Given the description of an element on the screen output the (x, y) to click on. 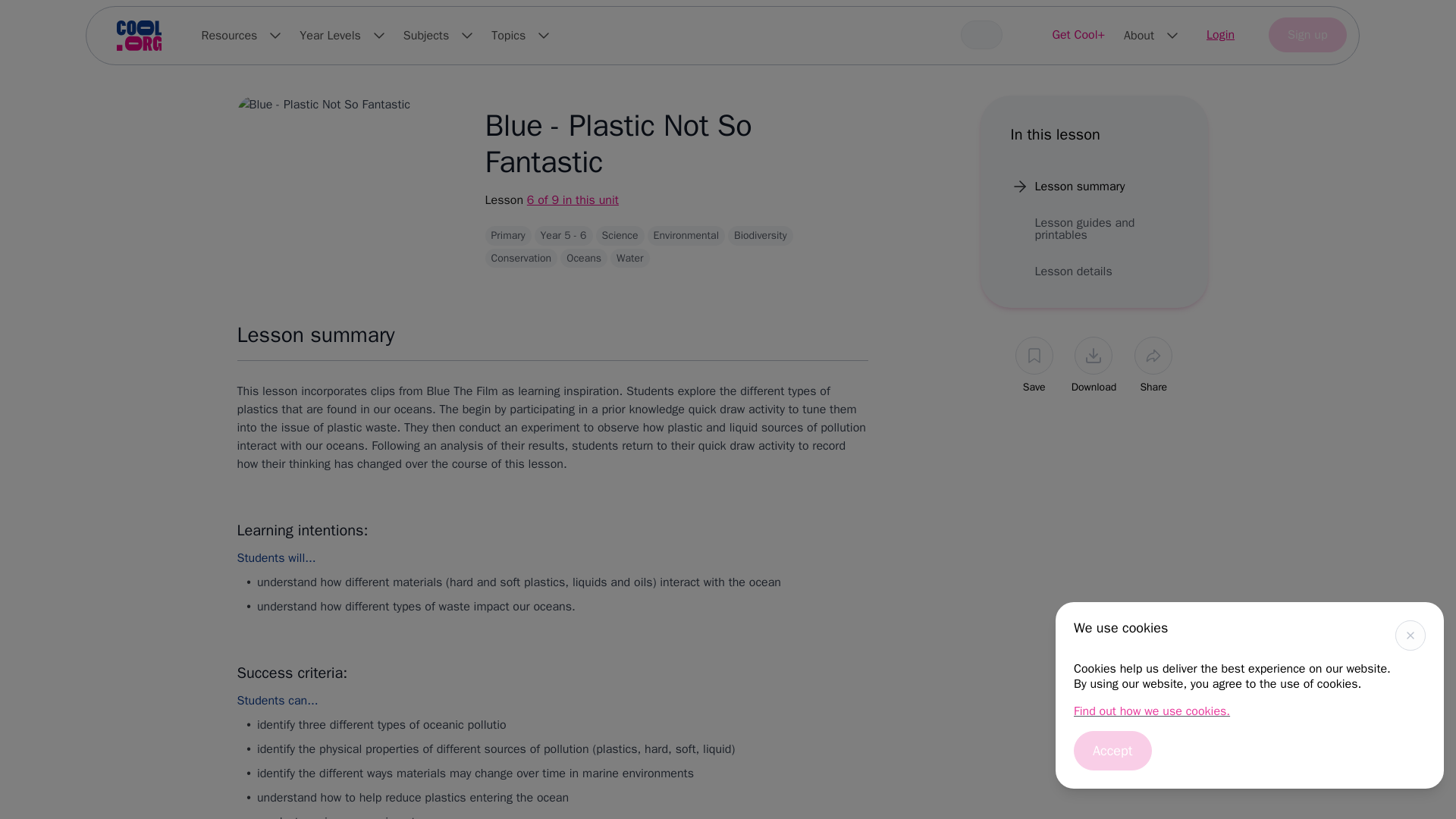
Resources (241, 35)
Subjects (438, 35)
Year Levels (342, 35)
